Given the description of an element on the screen output the (x, y) to click on. 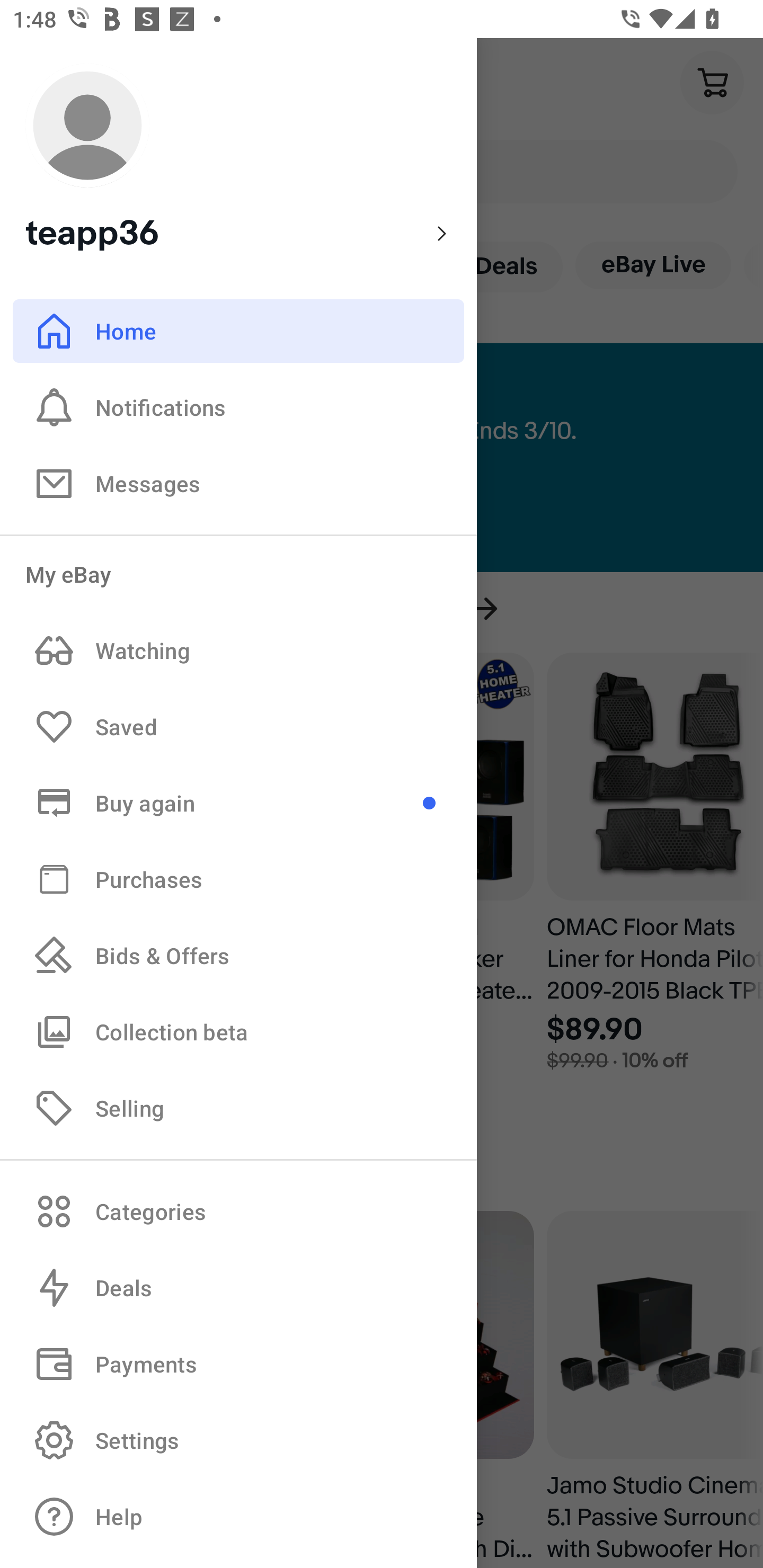
teapp36 (238, 158)
Home (238, 330)
Notifications (238, 406)
Messages (238, 483)
Watching (238, 650)
Saved (238, 726)
Buy again Is new feature (238, 802)
Purchases (238, 878)
Bids & Offers (238, 955)
Collection beta (238, 1031)
Selling (238, 1107)
Categories (238, 1210)
Deals (238, 1287)
Payments (238, 1363)
Settings (238, 1439)
Help (238, 1516)
